Given the description of an element on the screen output the (x, y) to click on. 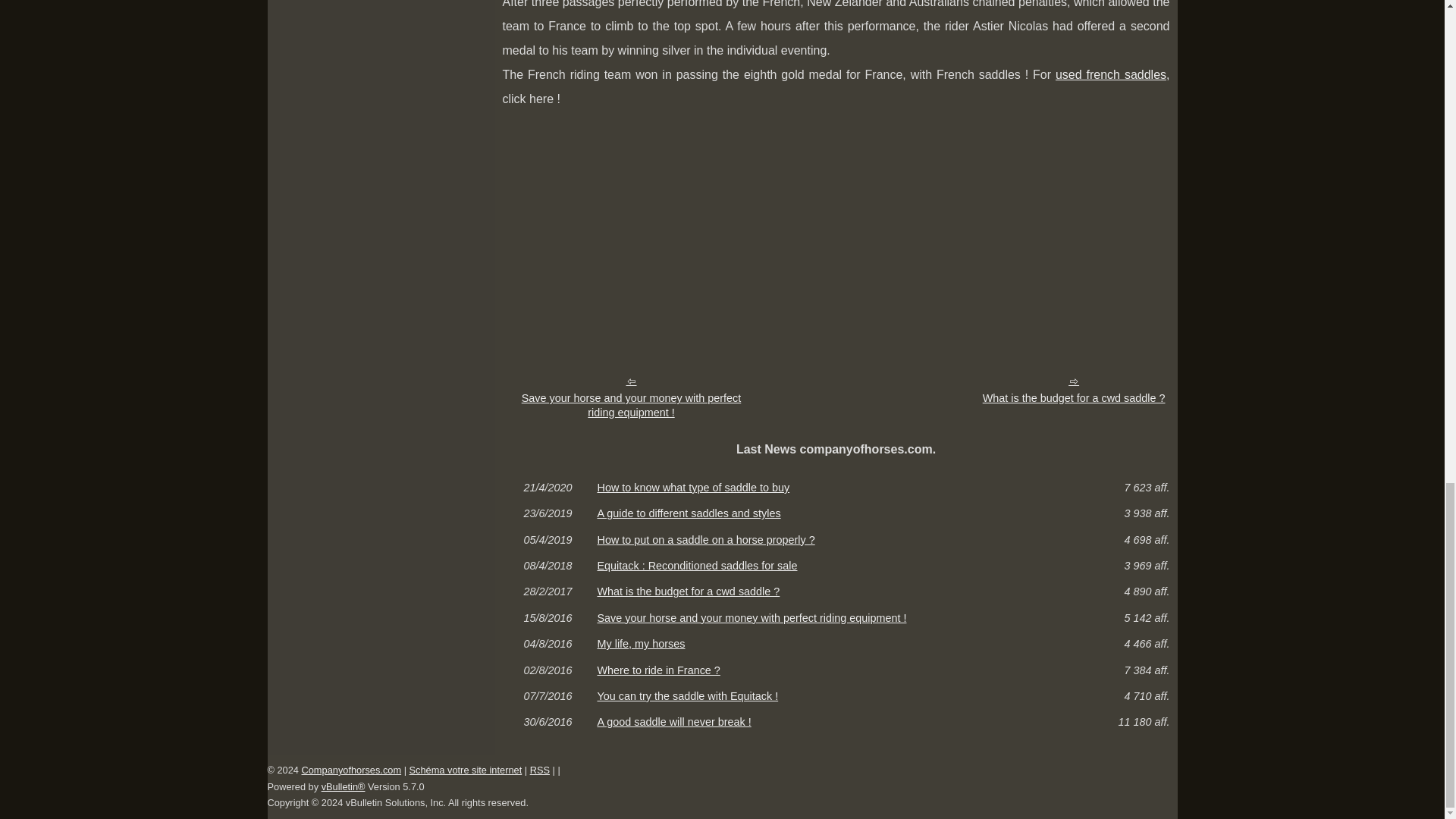
Where to ride in France ? (835, 670)
How to put on a saddle on a horse properly ? (835, 539)
What is the budget for a cwd saddle ? (1074, 389)
Companyofhorses.com (351, 769)
Where to ride in France ? (835, 670)
You can try the saddle with Equitack ! (835, 696)
A good saddle will never break ! (835, 721)
